Given the description of an element on the screen output the (x, y) to click on. 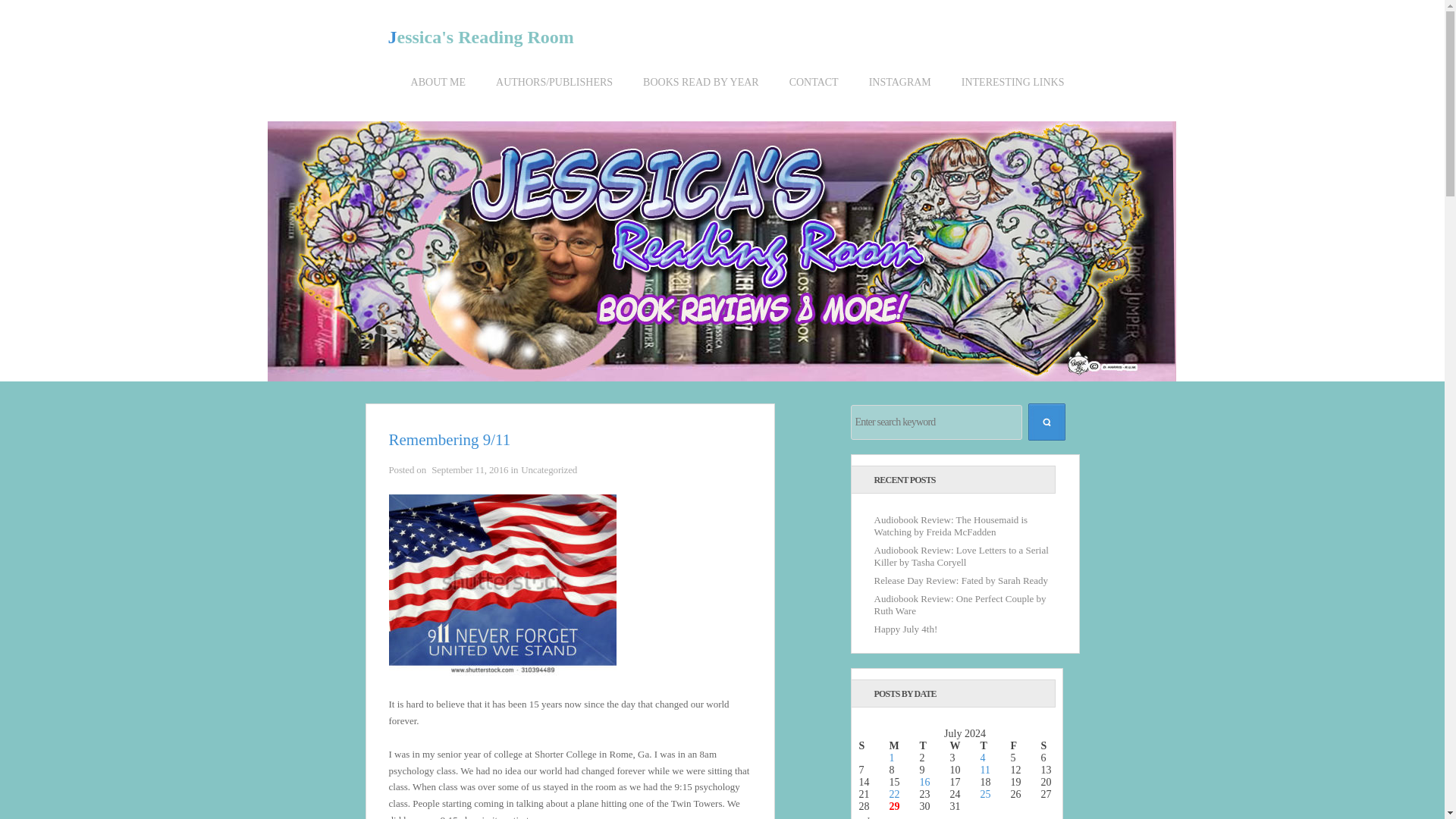
Sunday (873, 746)
Happy July 4th! (905, 628)
Tuesday (933, 746)
25 (984, 794)
INSTAGRAM (899, 93)
ABOUT ME (438, 93)
16 (924, 781)
Wednesday (964, 746)
BOOKS READ BY YEAR (700, 93)
Saturday (1055, 746)
22 (893, 794)
Audiobook Review: One Perfect Couple by Ruth Ware (959, 604)
September 11, 2016 (469, 469)
Friday (1025, 746)
Monday (903, 746)
